Given the description of an element on the screen output the (x, y) to click on. 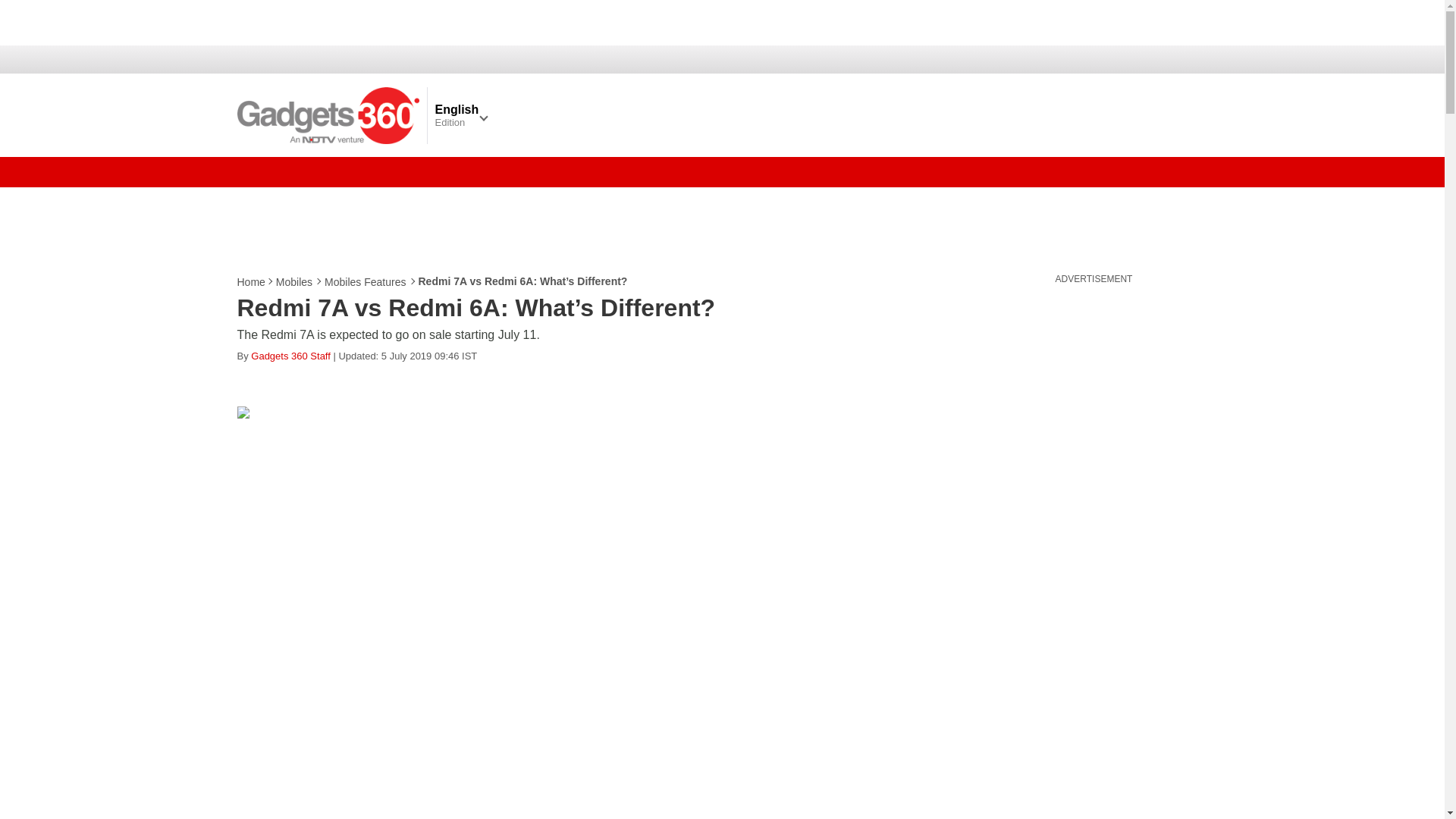
Mobiles (295, 281)
Mobiles (295, 281)
Mobiles Features (365, 281)
Home (250, 281)
Mobiles Features (365, 281)
Home (250, 281)
Gadgets 360 (327, 114)
Gadgets 360 Staff (290, 355)
